Given the description of an element on the screen output the (x, y) to click on. 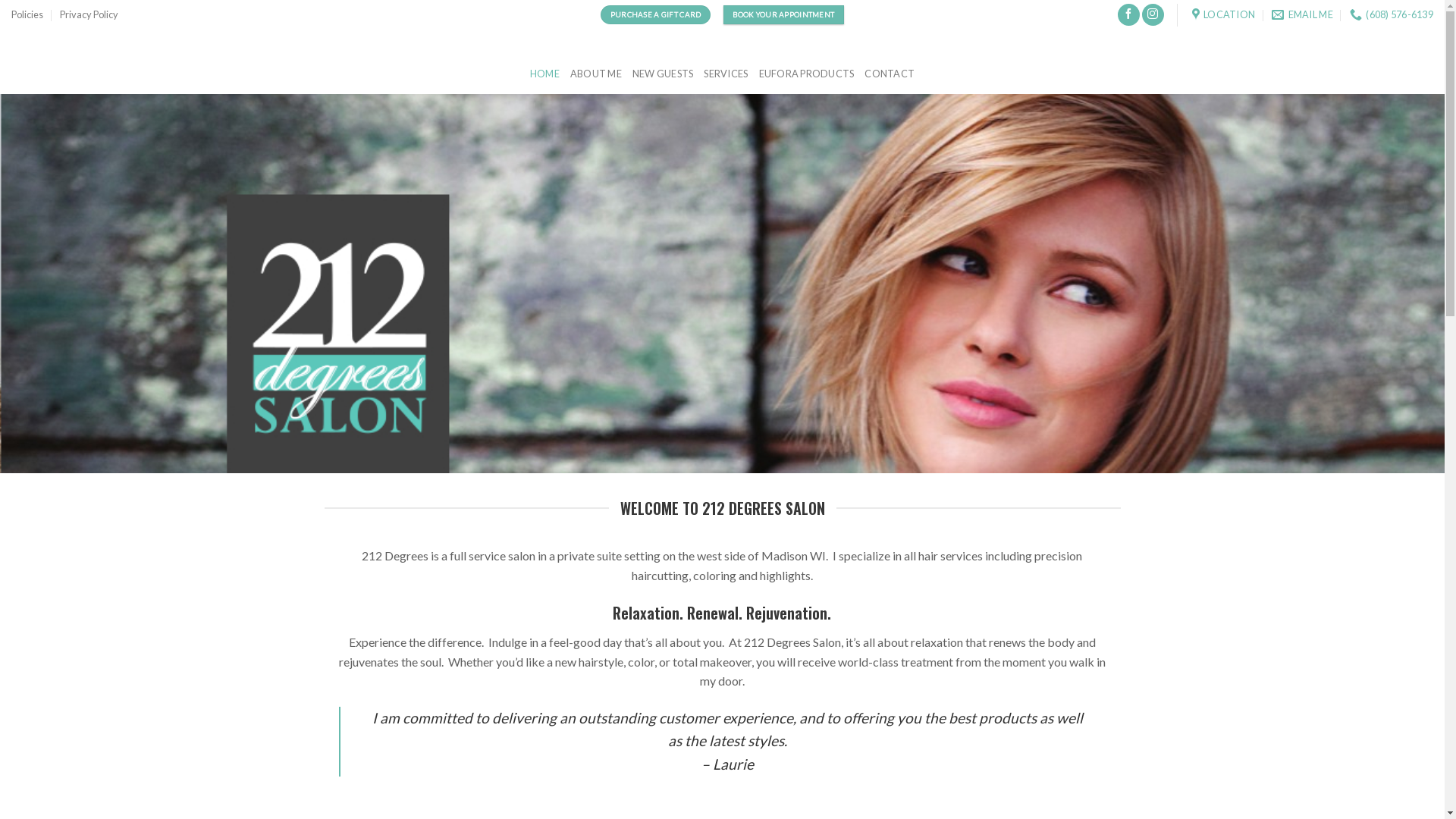
SERVICES Element type: text (725, 72)
Follow on Facebook Element type: hover (1128, 14)
EUFORA PRODUCTS Element type: text (806, 72)
HOME Element type: text (544, 72)
EMAIL ME Element type: text (1301, 14)
PURCHASE A GIFT CARD Element type: text (655, 14)
212 Degrees Salon - Hair Salon | Madison WI Element type: hover (22, 40)
NEW GUESTS Element type: text (662, 72)
Policies Element type: text (27, 14)
LOCATION Element type: text (1223, 14)
ABOUT ME Element type: text (595, 72)
BOOK YOUR APPOINTMENT Element type: text (783, 14)
Privacy Policy Element type: text (88, 14)
(608) 576-6139 Element type: text (1391, 14)
CONTACT Element type: text (889, 72)
Follow on Instagram Element type: hover (1153, 14)
